Given the description of an element on the screen output the (x, y) to click on. 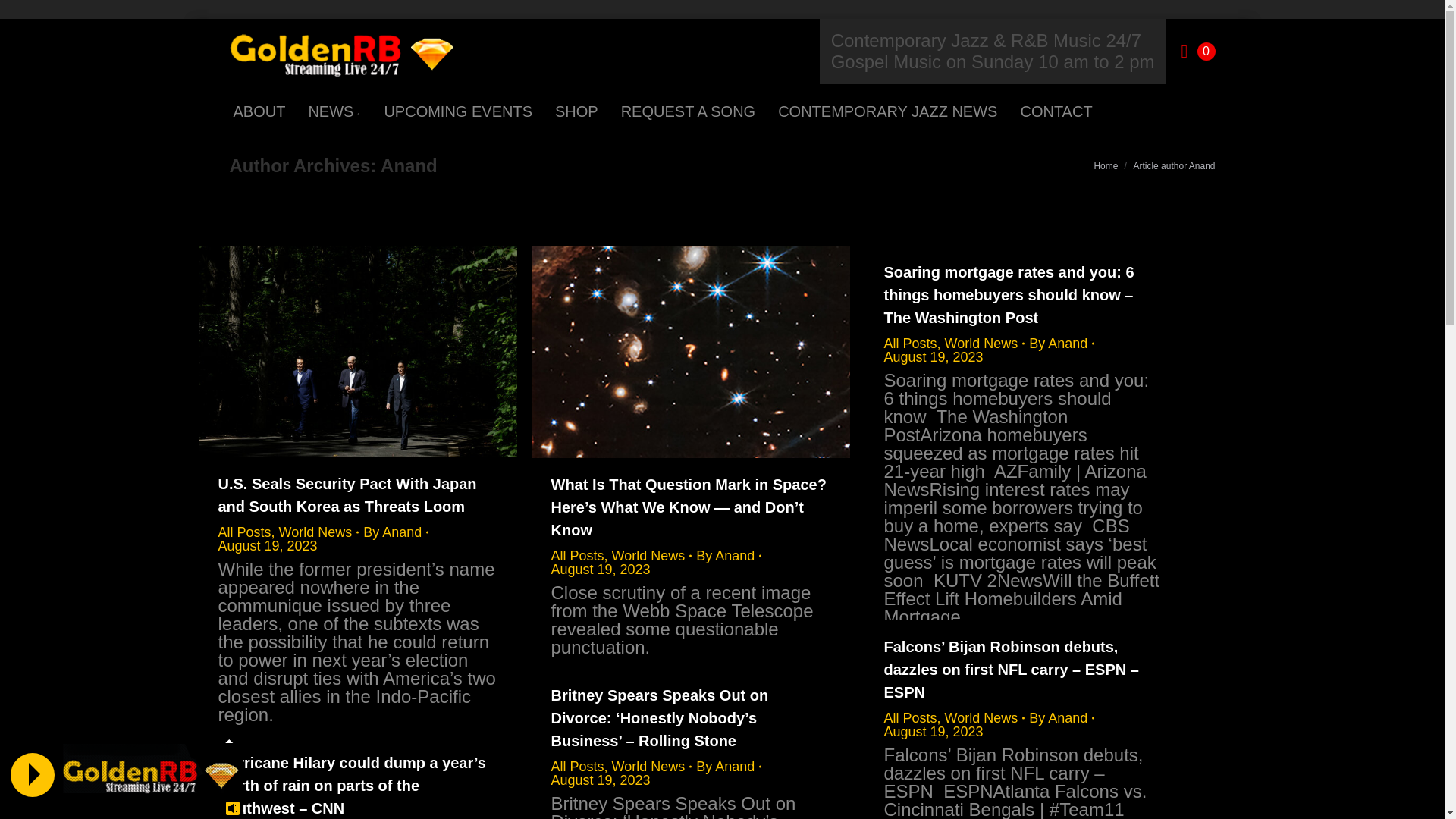
View all posts by Anand (1061, 343)
2:31 am (267, 545)
2:31 am (933, 356)
View all posts by Anand (728, 555)
2:31 am (933, 731)
SHOP (576, 111)
NEWS (334, 111)
Anand (409, 165)
View all posts by Anand (395, 531)
UPCOMING EVENTS (457, 111)
CONTEMPORARY JAZZ NEWS (887, 111)
2:31 am (599, 569)
View all posts by Anand (1061, 717)
 0 (1197, 51)
